Given the description of an element on the screen output the (x, y) to click on. 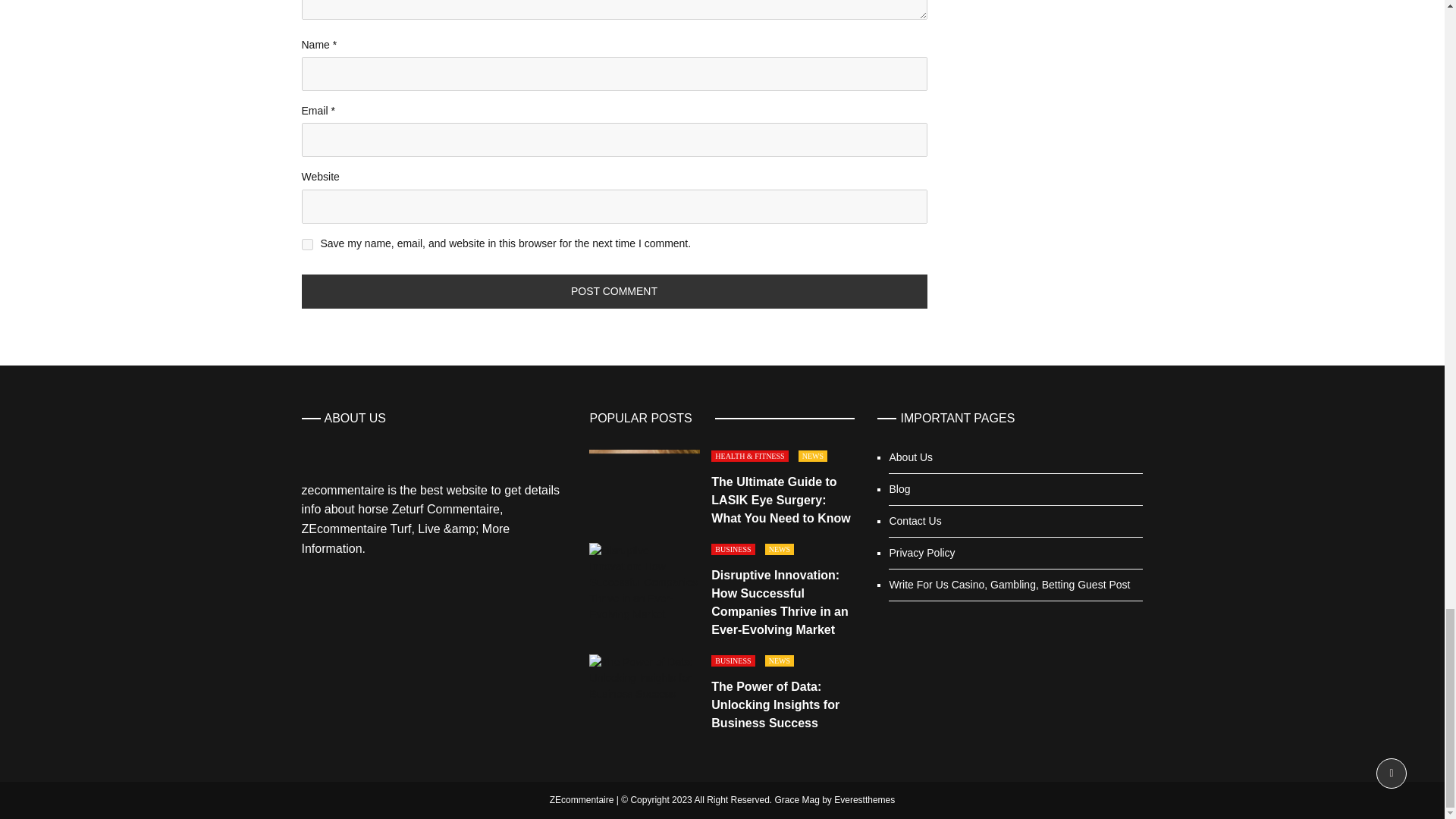
yes (307, 244)
Post Comment (614, 291)
Post Comment (614, 291)
